Given the description of an element on the screen output the (x, y) to click on. 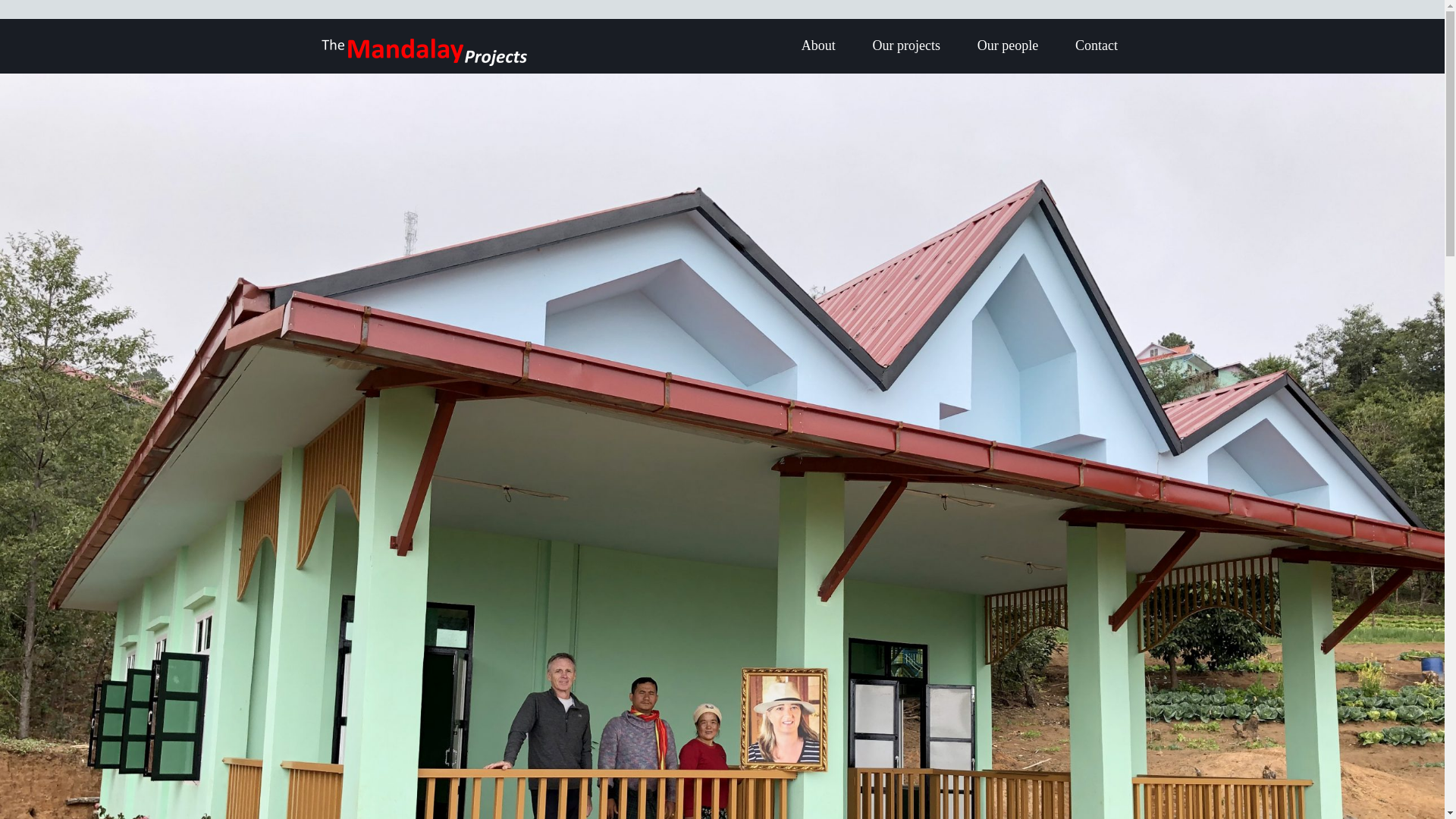
About (817, 45)
Contact (1096, 45)
Our projects (906, 45)
Our people (1007, 45)
